Given the description of an element on the screen output the (x, y) to click on. 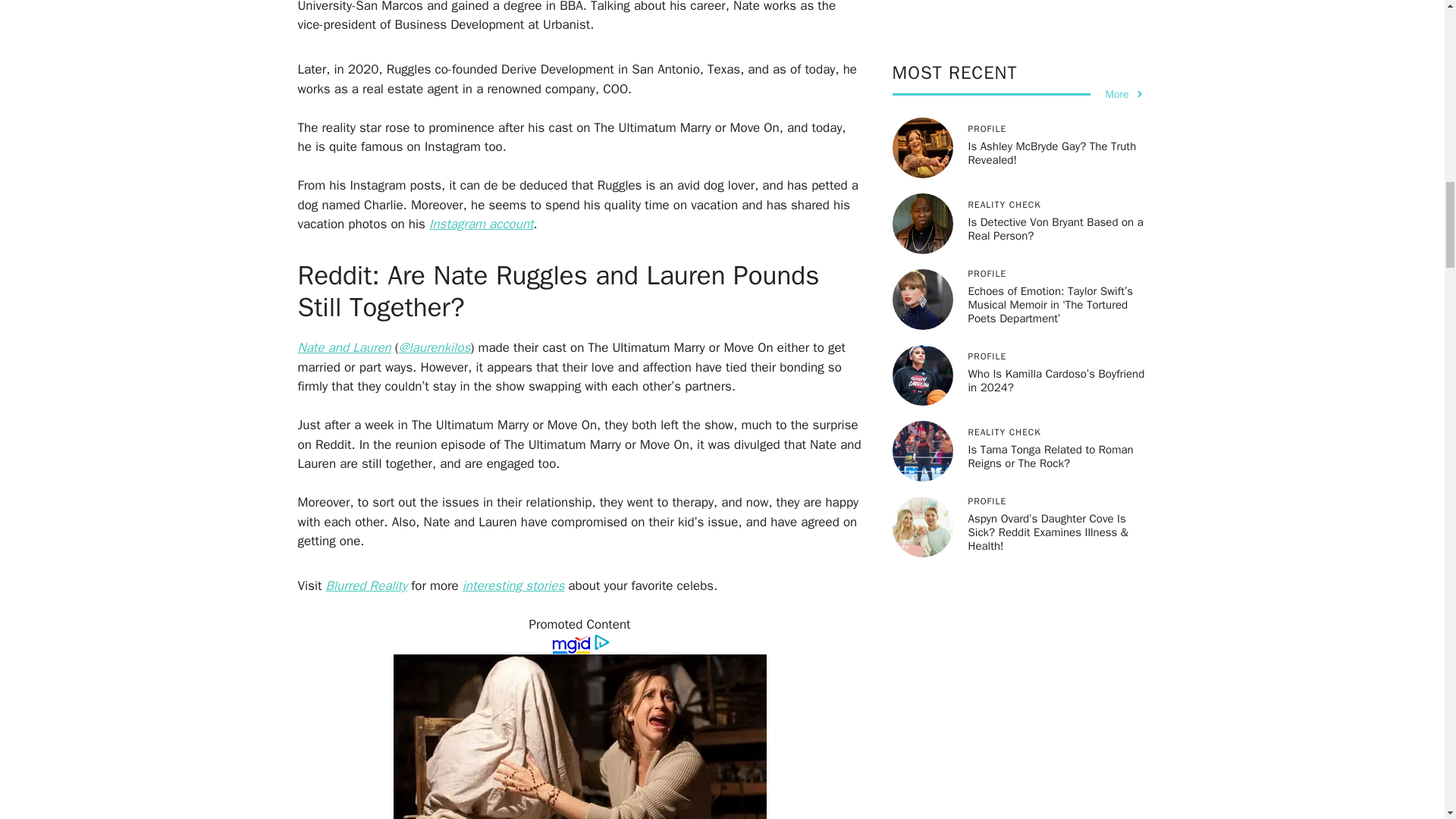
interesting stories (513, 585)
Blurred Reality (366, 585)
Nate and Lauren (343, 347)
Instagram account (481, 223)
